Given the description of an element on the screen output the (x, y) to click on. 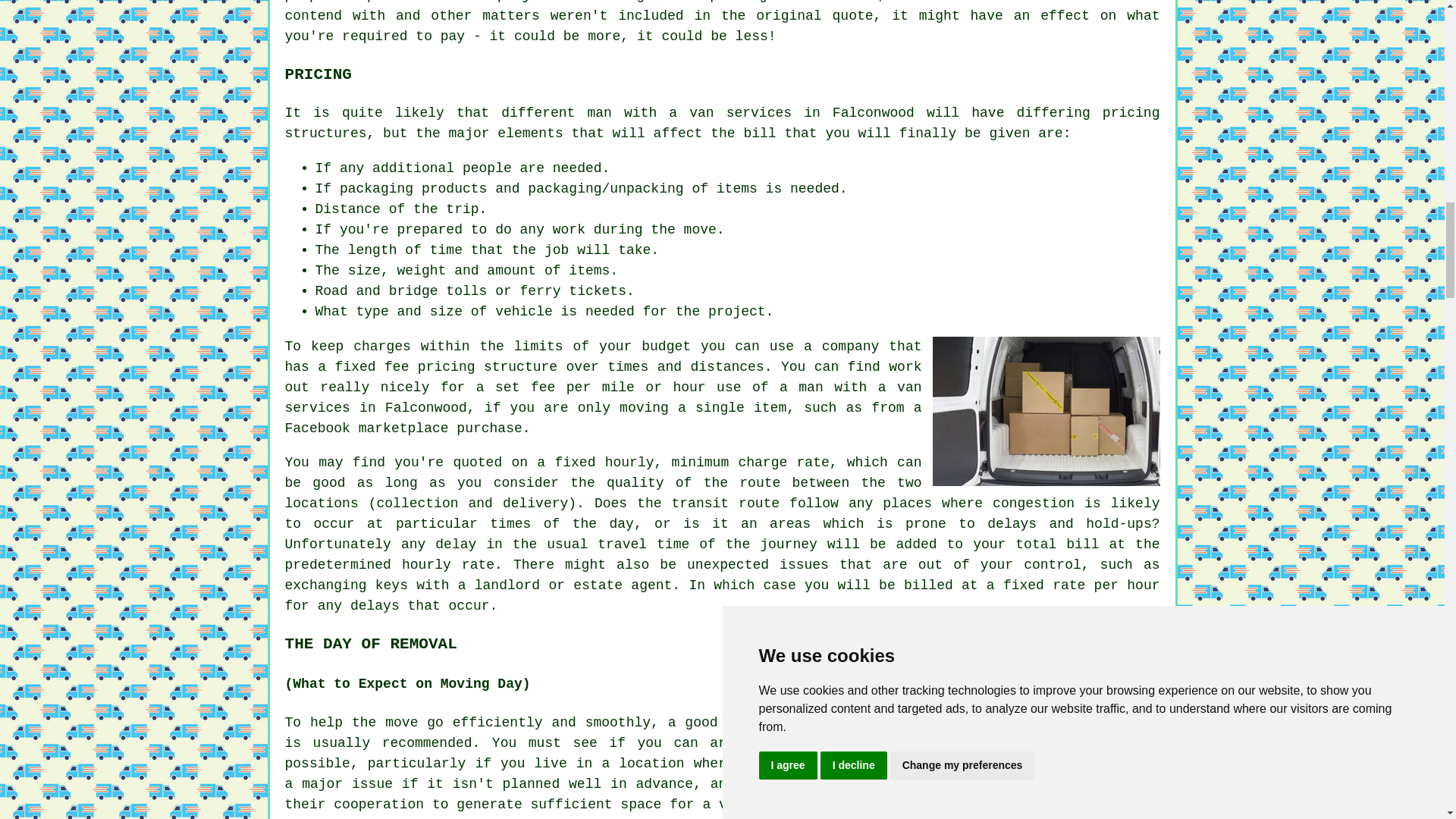
A Man With Van Near Falconwood Greater London (1046, 411)
man with a van services (689, 111)
